Given the description of an element on the screen output the (x, y) to click on. 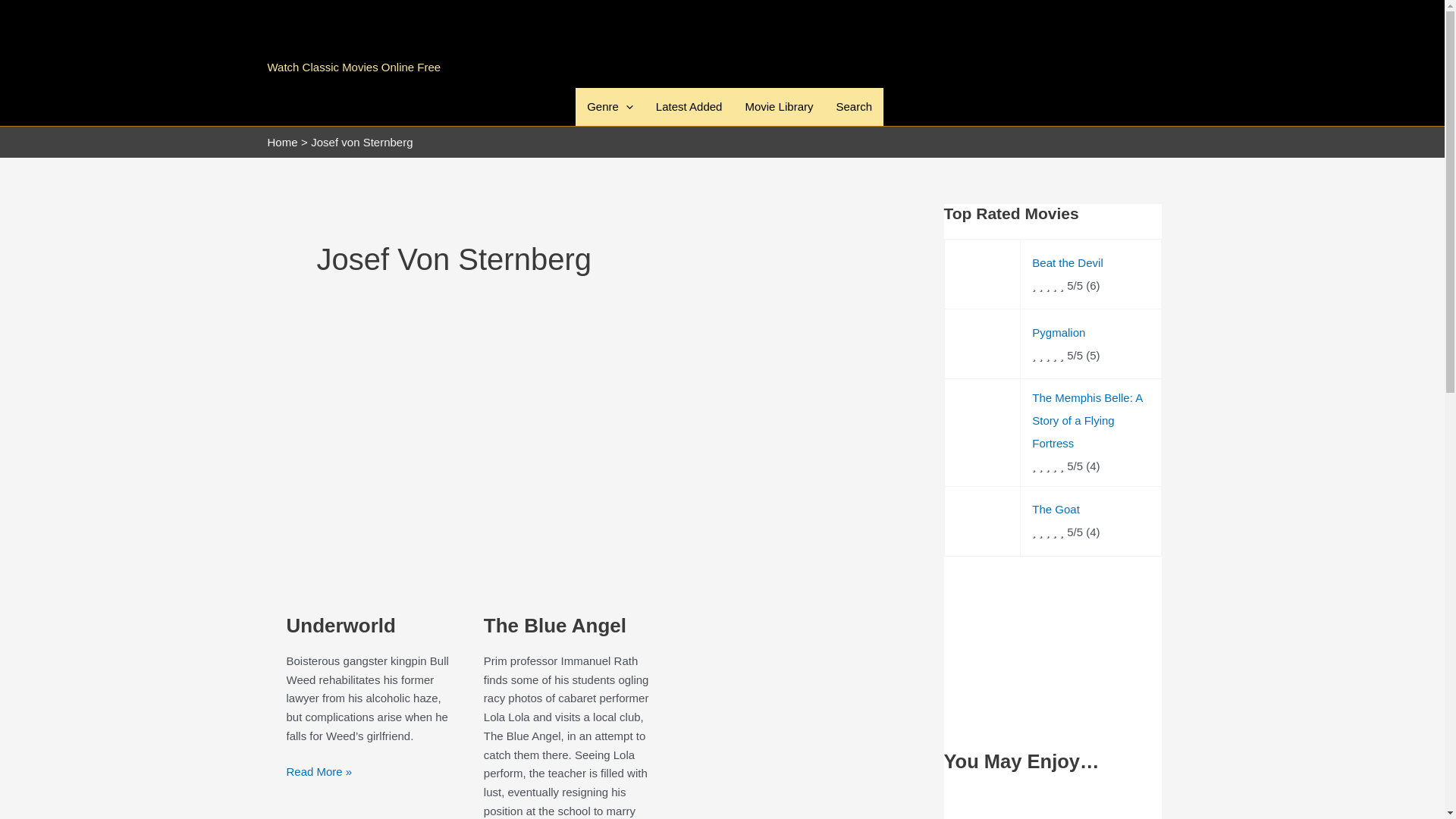
Movie Library (778, 106)
Search (853, 106)
Underworld (341, 625)
Genre (610, 106)
Read more about The Deadly Companions (1051, 806)
Latest Added (689, 106)
Home (281, 141)
